Given the description of an element on the screen output the (x, y) to click on. 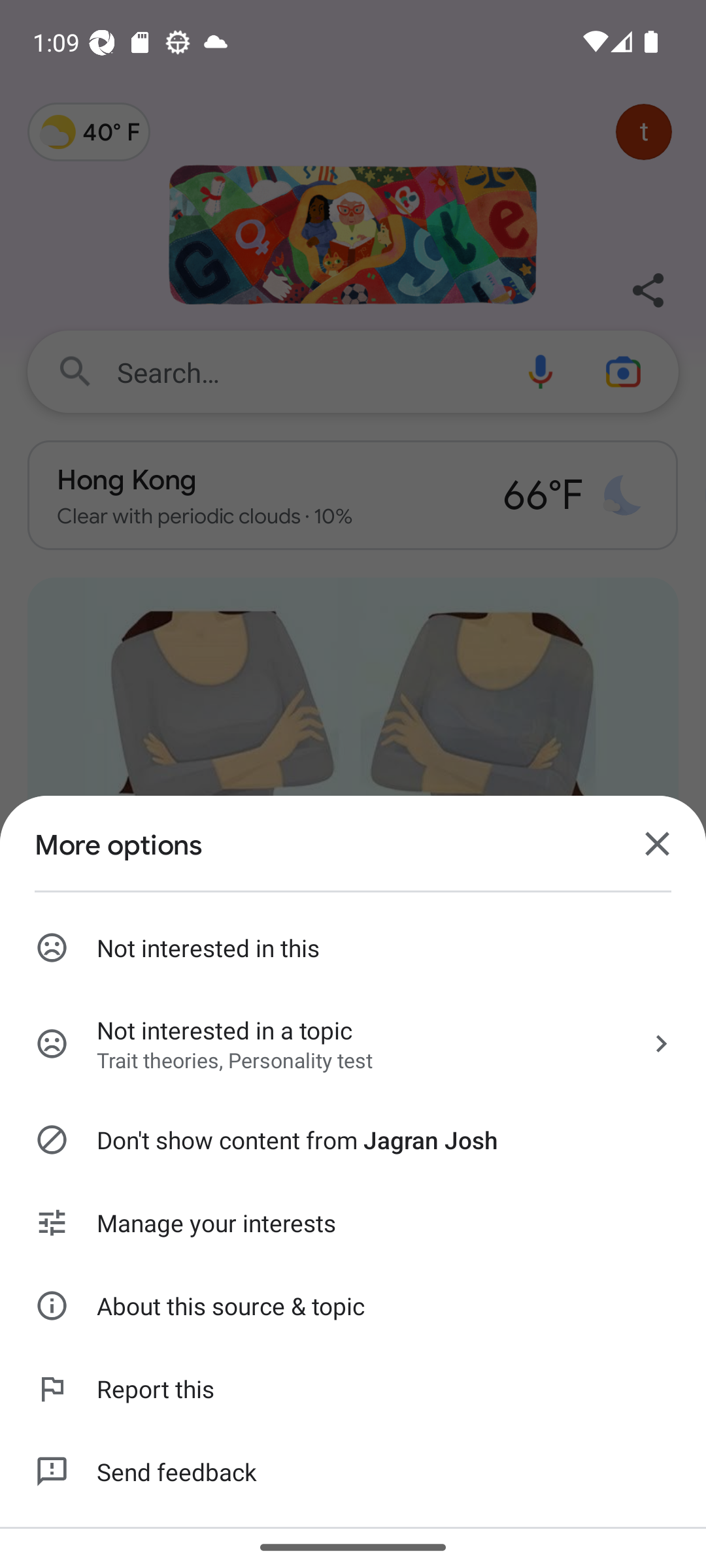
Close (657, 843)
